Given the description of an element on the screen output the (x, y) to click on. 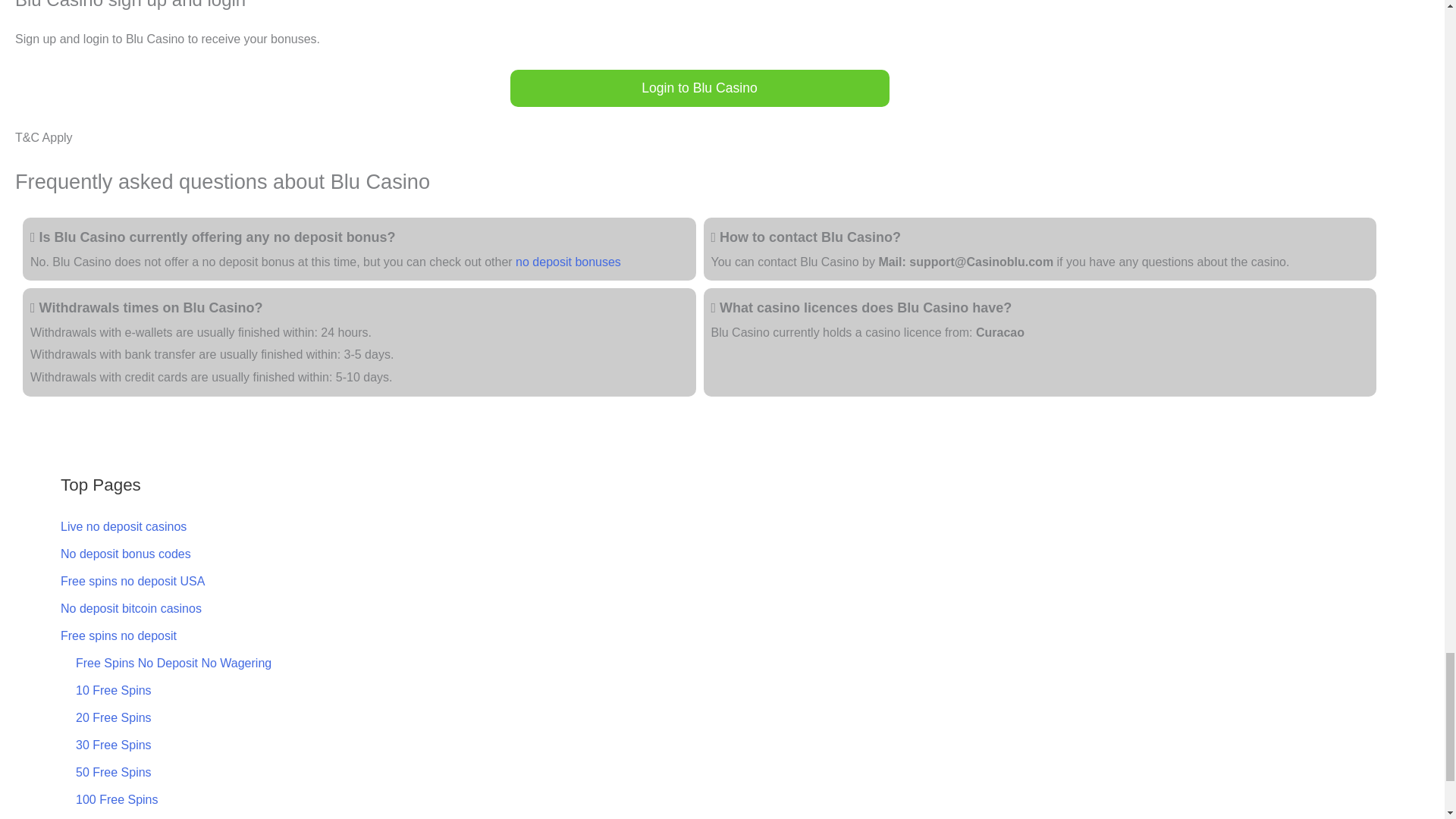
Free spins no deposit USA (133, 581)
no deposit bonuses (568, 261)
No deposit bonus codes (125, 553)
20 Free Spins (113, 717)
30 Free Spins (113, 744)
Free spins no deposit (118, 635)
No deposit bitcoin casinos (131, 608)
10 Free Spins (113, 689)
100 Free Spins (116, 799)
Login to Blu Casino (698, 88)
